Given the description of an element on the screen output the (x, y) to click on. 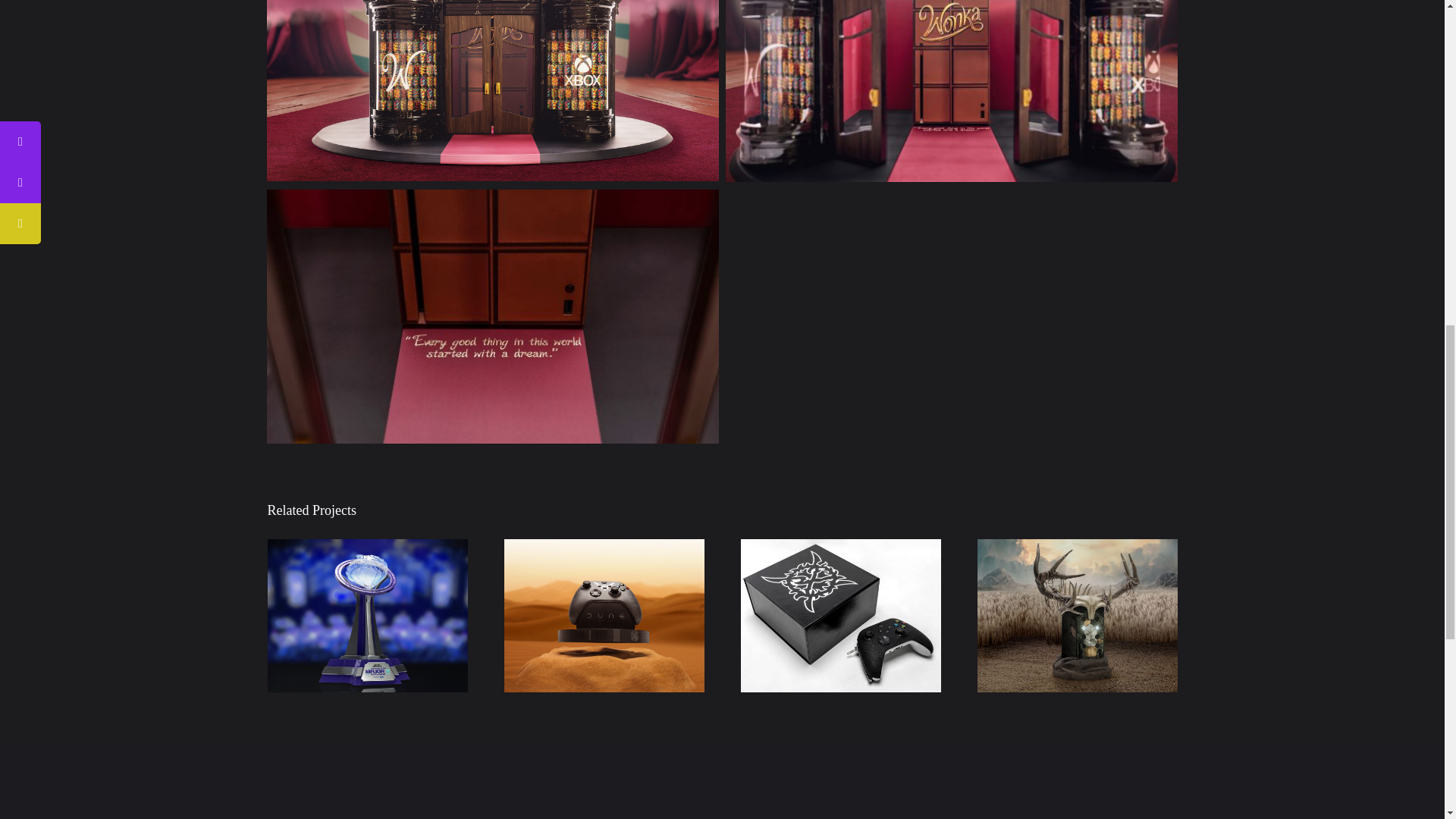
Wonka Movie (491, 316)
Wonka Movie (950, 90)
Wonka Movie (491, 90)
